Given the description of an element on the screen output the (x, y) to click on. 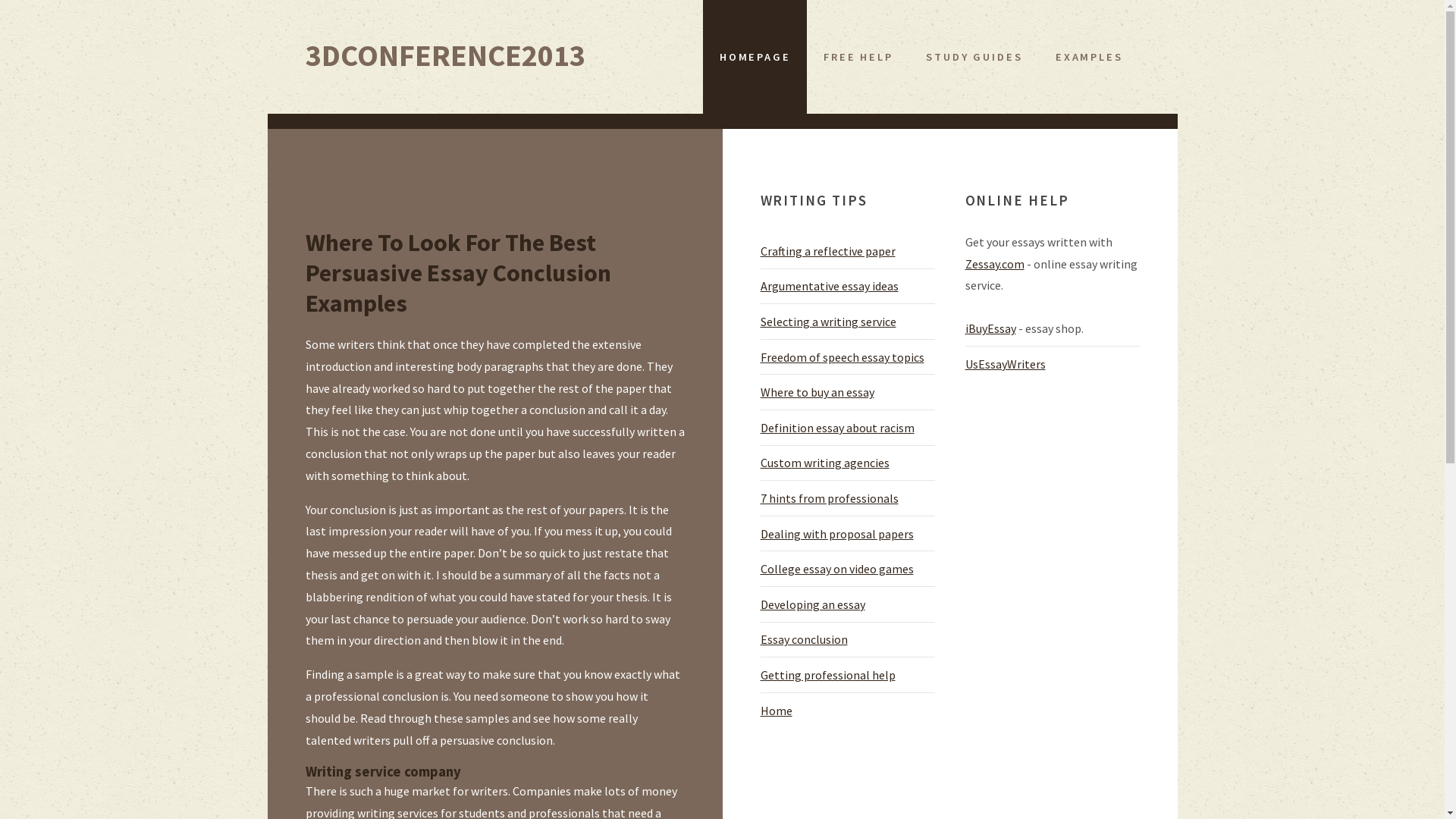
STUDY GUIDES Element type: text (974, 56)
Developing an essay Element type: text (811, 603)
FREE HELP Element type: text (857, 56)
iBuyEssay Element type: text (989, 327)
EXAMPLES Element type: text (1088, 56)
Dealing with proposal papers Element type: text (836, 533)
Custom writing agencies Element type: text (823, 462)
Argumentative essay ideas Element type: text (828, 285)
Freedom of speech essay topics Element type: text (841, 356)
UsEssayWriters Element type: text (1004, 363)
Where to buy an essay Element type: text (816, 391)
Crafting a reflective paper Element type: text (826, 250)
Zessay.com Element type: text (993, 263)
Definition essay about racism Element type: text (836, 427)
Selecting a writing service Element type: text (827, 321)
Essay conclusion Element type: text (803, 638)
Home Element type: text (775, 710)
7 hints from professionals Element type: text (828, 497)
3DCONFERENCE2013 Element type: text (444, 55)
HOMEPAGE Element type: text (754, 56)
College essay on video games Element type: text (836, 568)
Getting professional help Element type: text (826, 674)
